Given the description of an element on the screen output the (x, y) to click on. 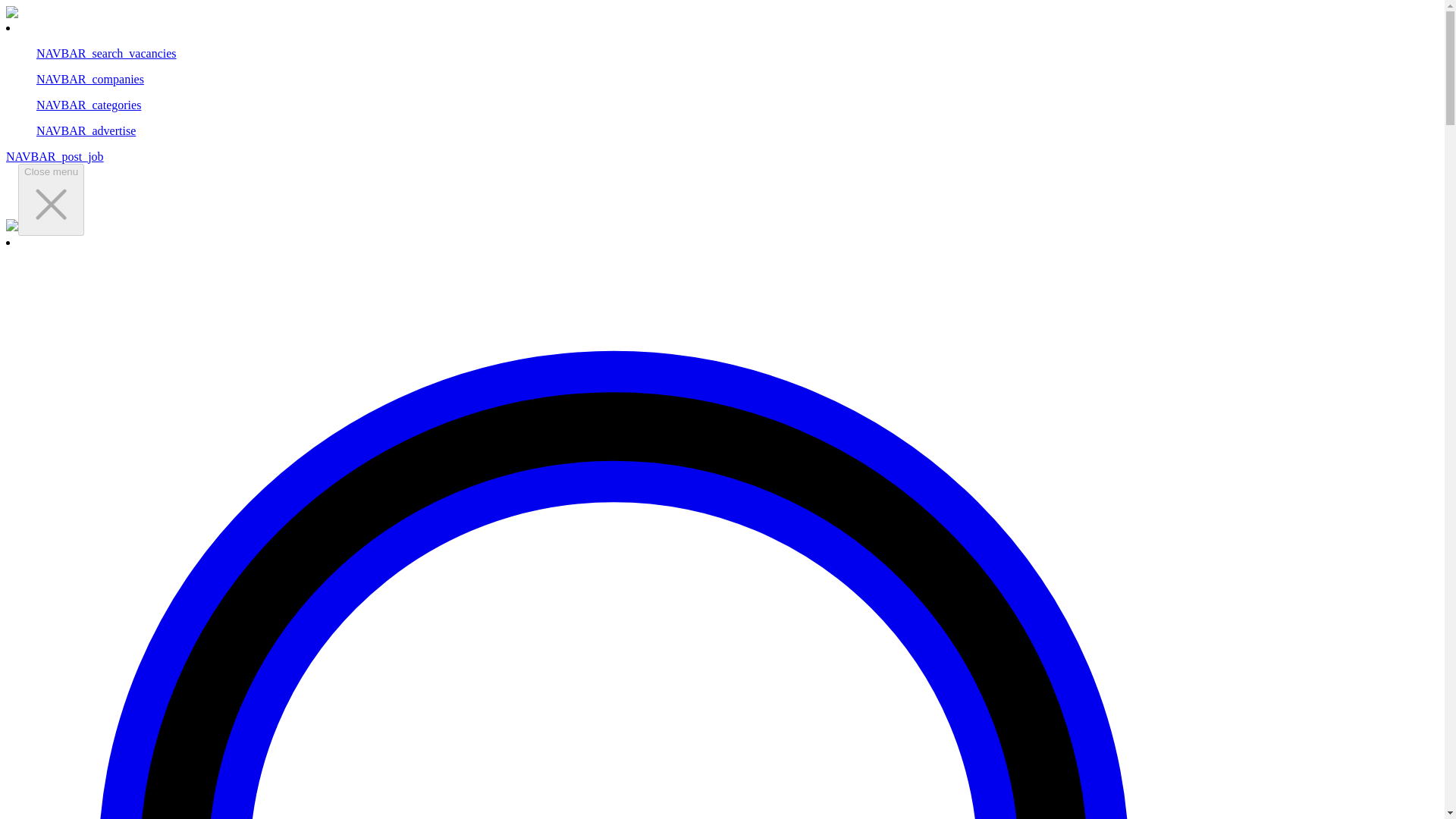
Close menu (50, 199)
